Given the description of an element on the screen output the (x, y) to click on. 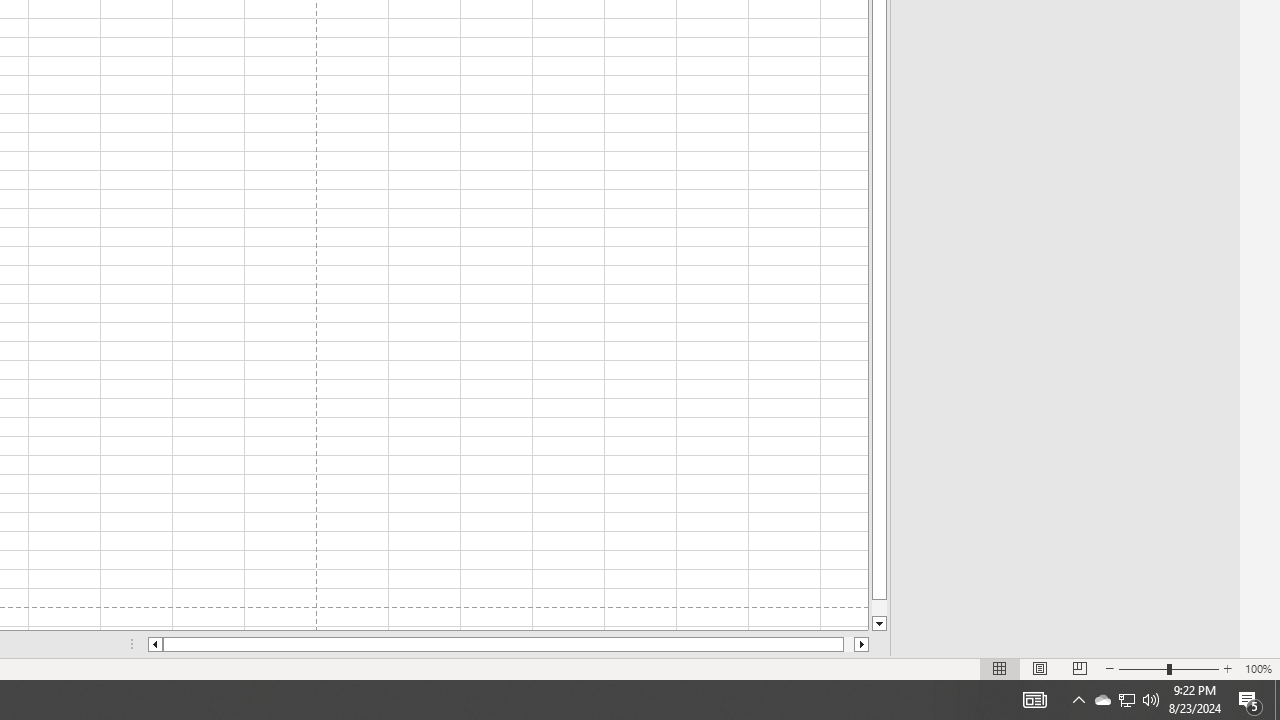
Page down (879, 607)
